Given the description of an element on the screen output the (x, y) to click on. 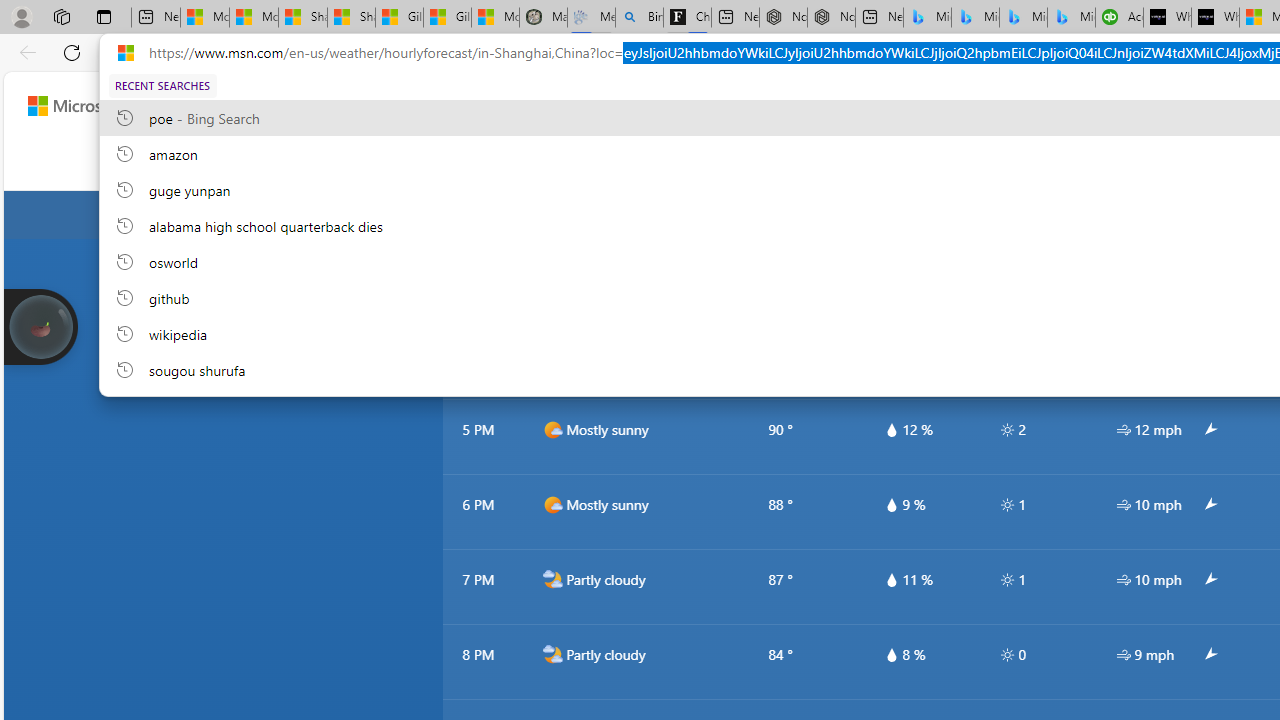
Fire information (1226, 162)
Maps (599, 162)
